Given the description of an element on the screen output the (x, y) to click on. 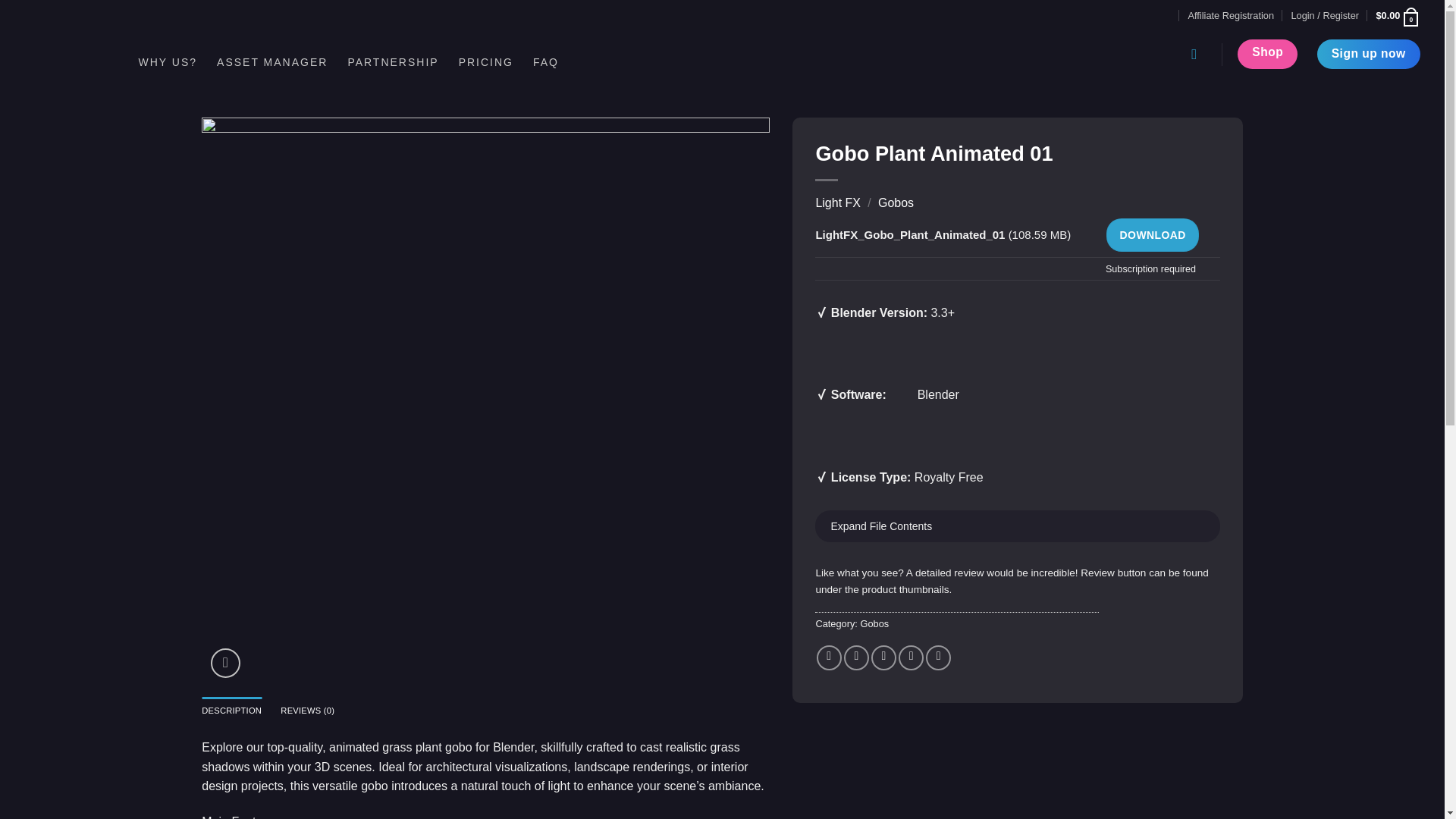
Gobos (874, 623)
Sign up now (1369, 53)
Share on LinkedIn (938, 657)
Email to a Friend (883, 657)
Cart (1397, 15)
Royalty Free (949, 477)
Share on Twitter (856, 657)
Gobos (895, 202)
DOWNLOAD (1152, 234)
ASSET MANAGER (271, 62)
